Given the description of an element on the screen output the (x, y) to click on. 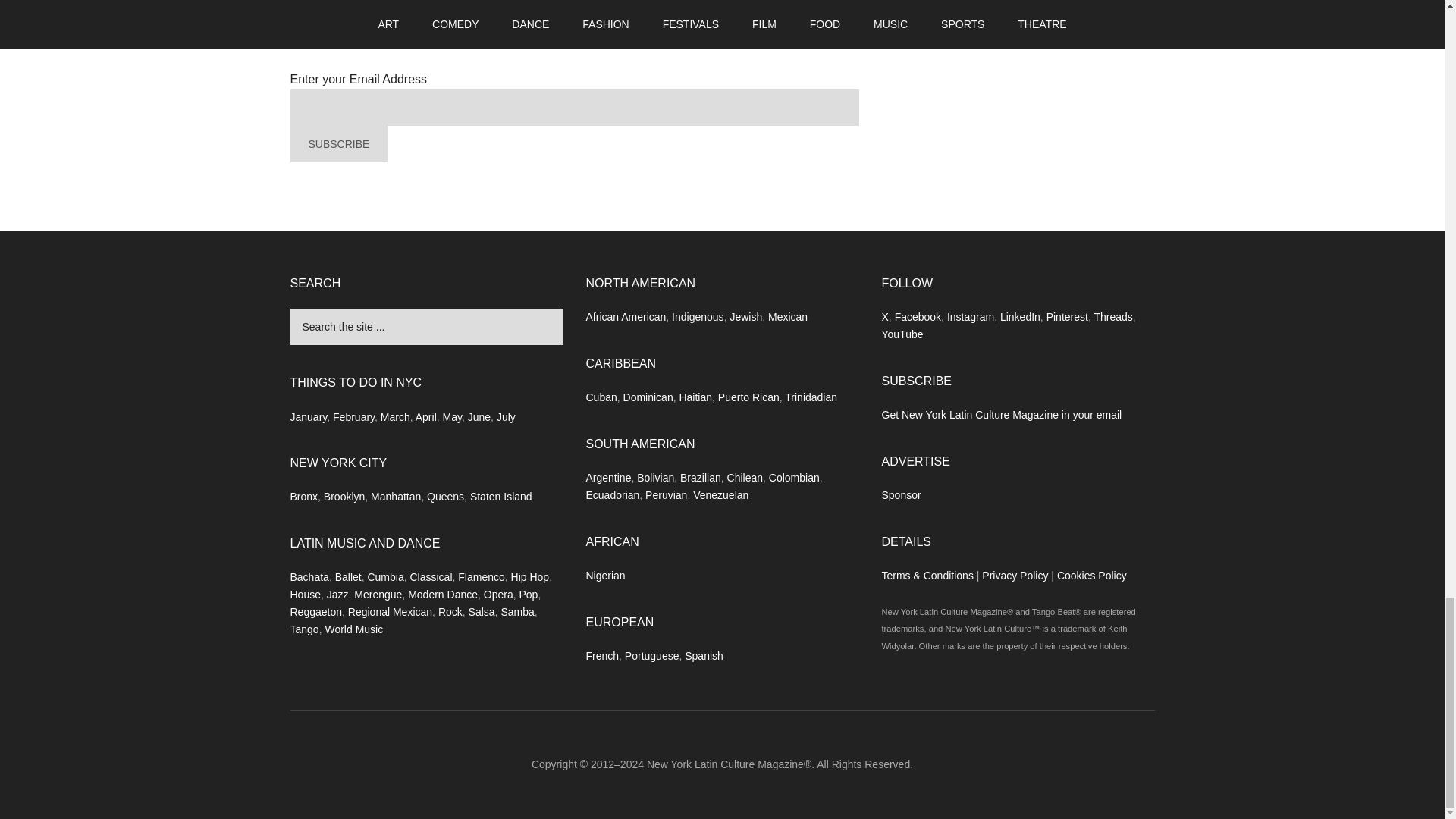
Subscribe (338, 144)
Subscribe (338, 144)
